Given the description of an element on the screen output the (x, y) to click on. 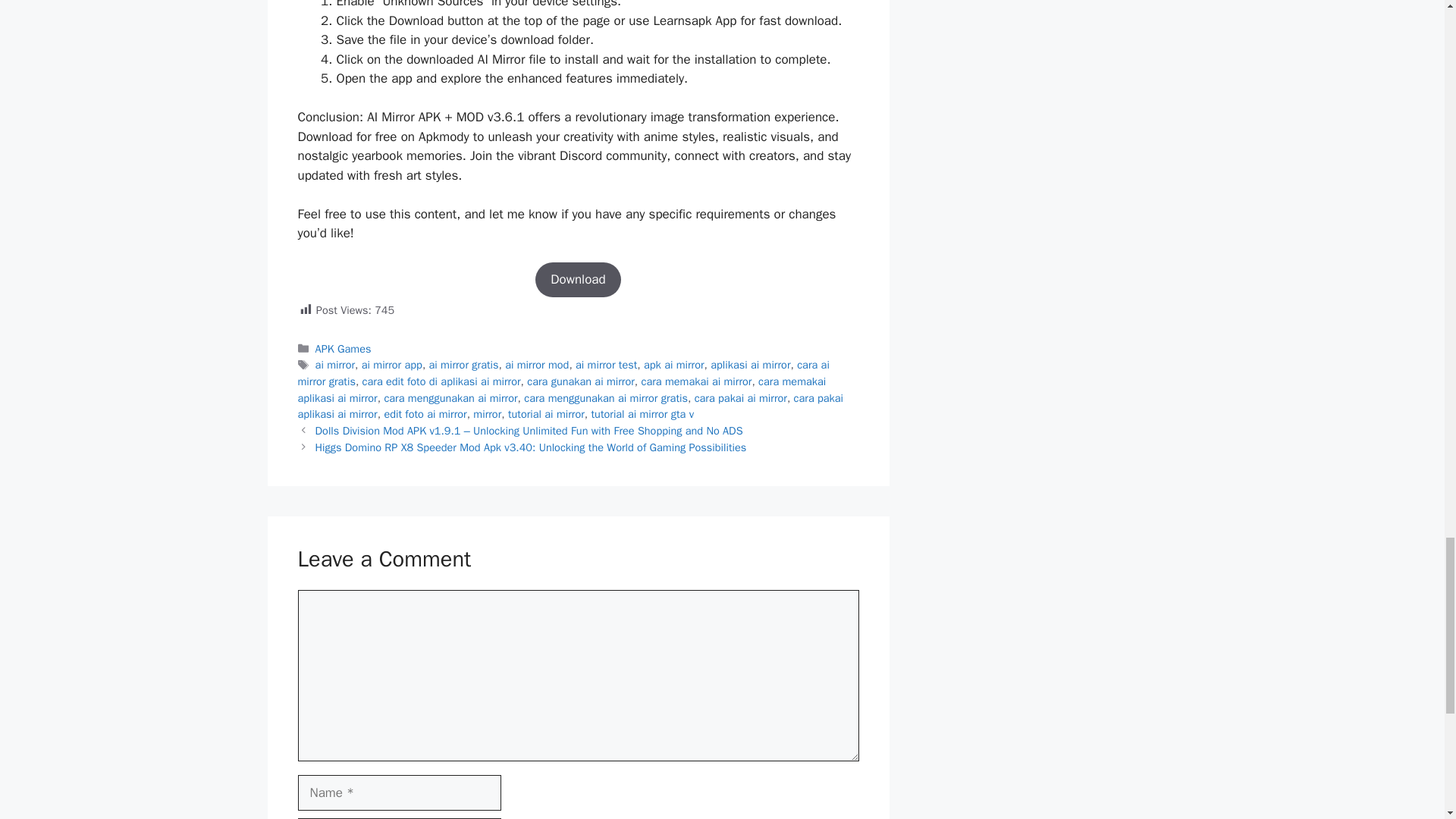
cara gunakan ai mirror (580, 381)
cara memakai ai mirror (697, 381)
cara memakai aplikasi ai mirror (561, 389)
ai mirror mod (537, 364)
edit foto ai mirror (424, 413)
cara ai mirror gratis (562, 372)
aplikasi ai mirror (750, 364)
Download (577, 279)
ai mirror test (606, 364)
cara menggunakan ai mirror gratis (605, 397)
ai mirror app (391, 364)
cara pakai ai mirror (740, 397)
tutorial ai mirror gta v (642, 413)
cara edit foto di aplikasi ai mirror (441, 381)
